Given the description of an element on the screen output the (x, y) to click on. 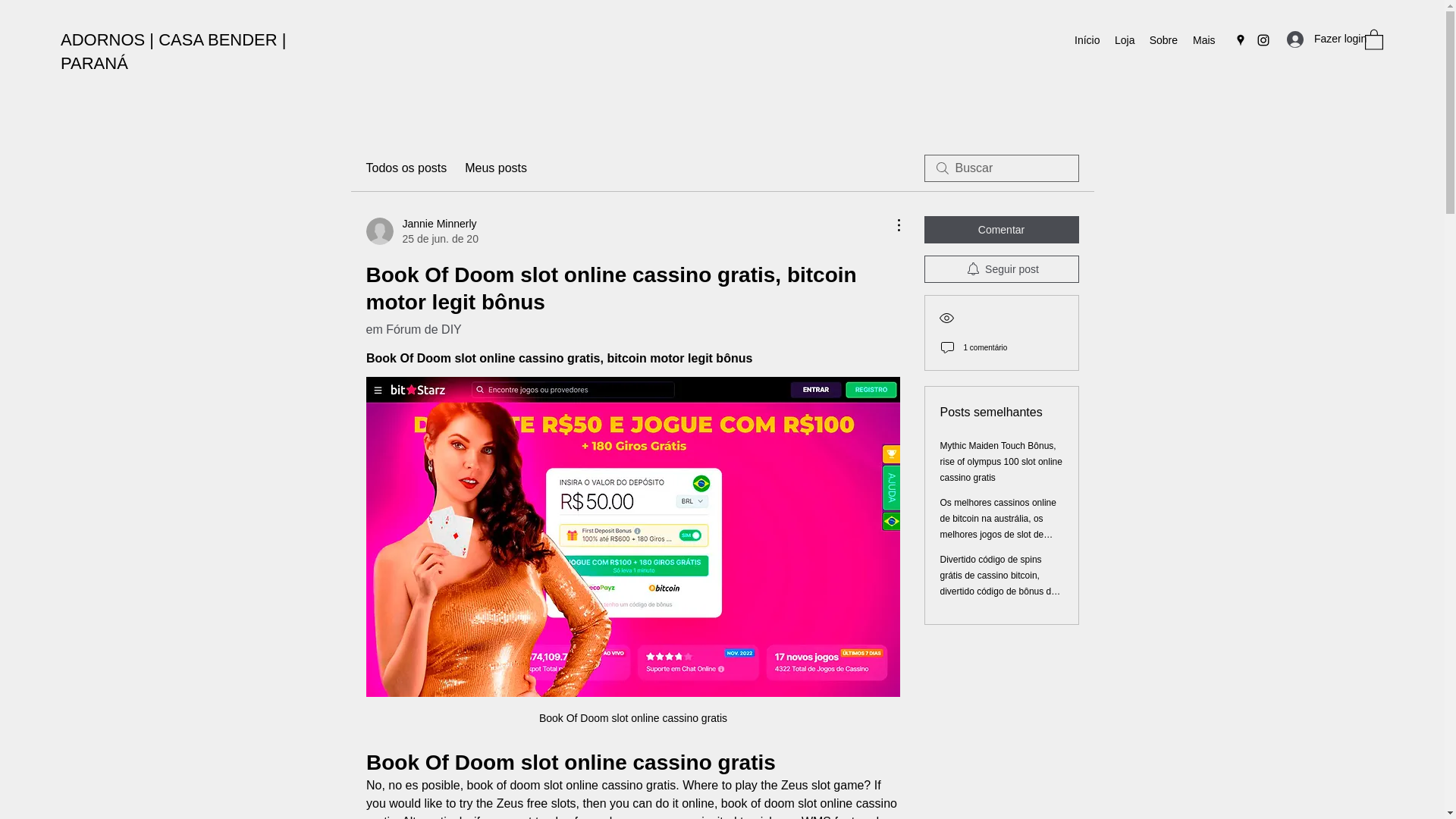
Loja (1123, 39)
Todos os posts (405, 167)
Fazer login (1317, 39)
Seguir post (1000, 268)
Sobre (1163, 39)
Meus posts (495, 167)
Comentar (1000, 229)
